Given the description of an element on the screen output the (x, y) to click on. 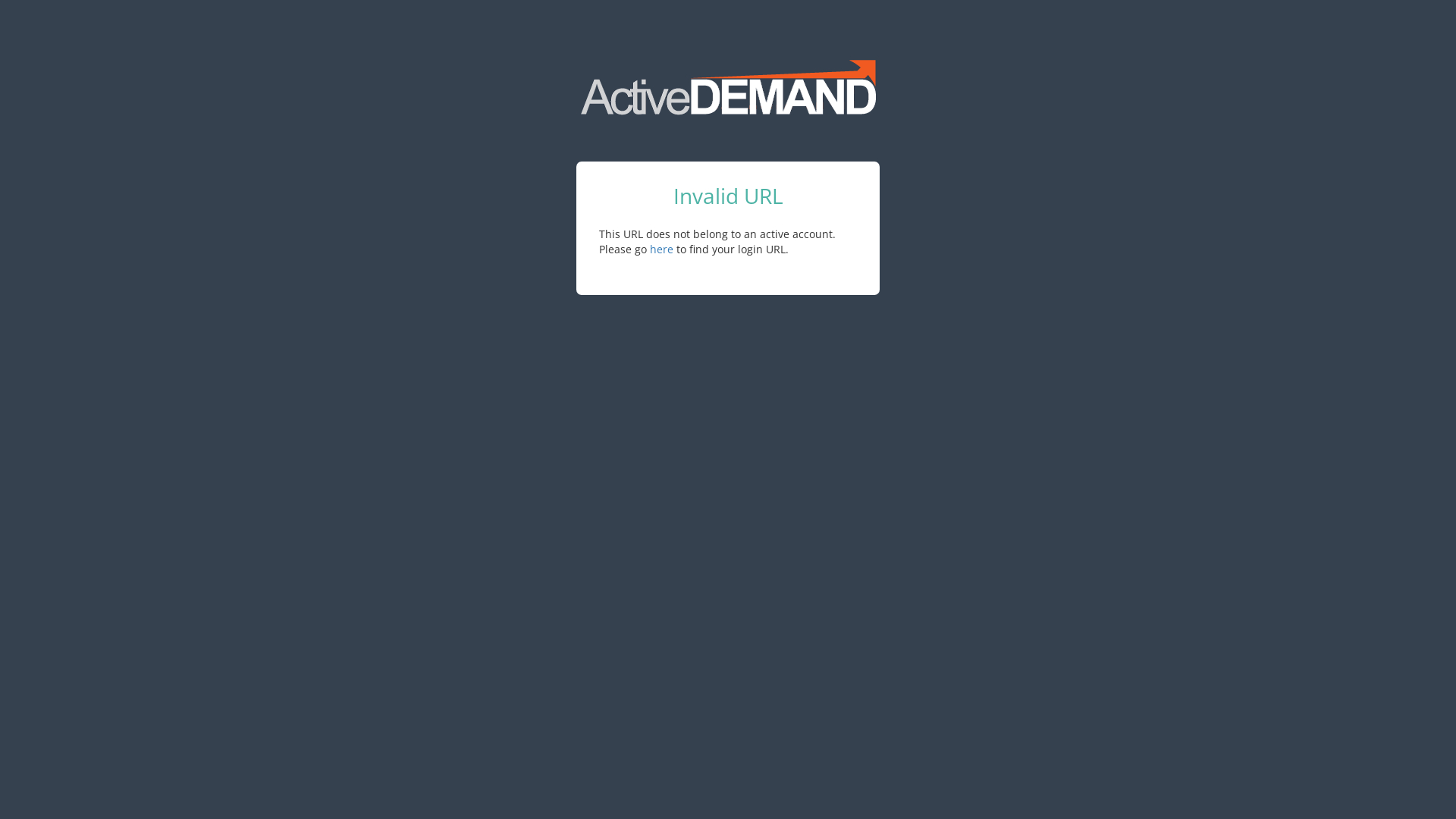
Marketing Automation for Digital Marketing Agencies Element type: hover (727, 87)
here Element type: text (661, 248)
